Given the description of an element on the screen output the (x, y) to click on. 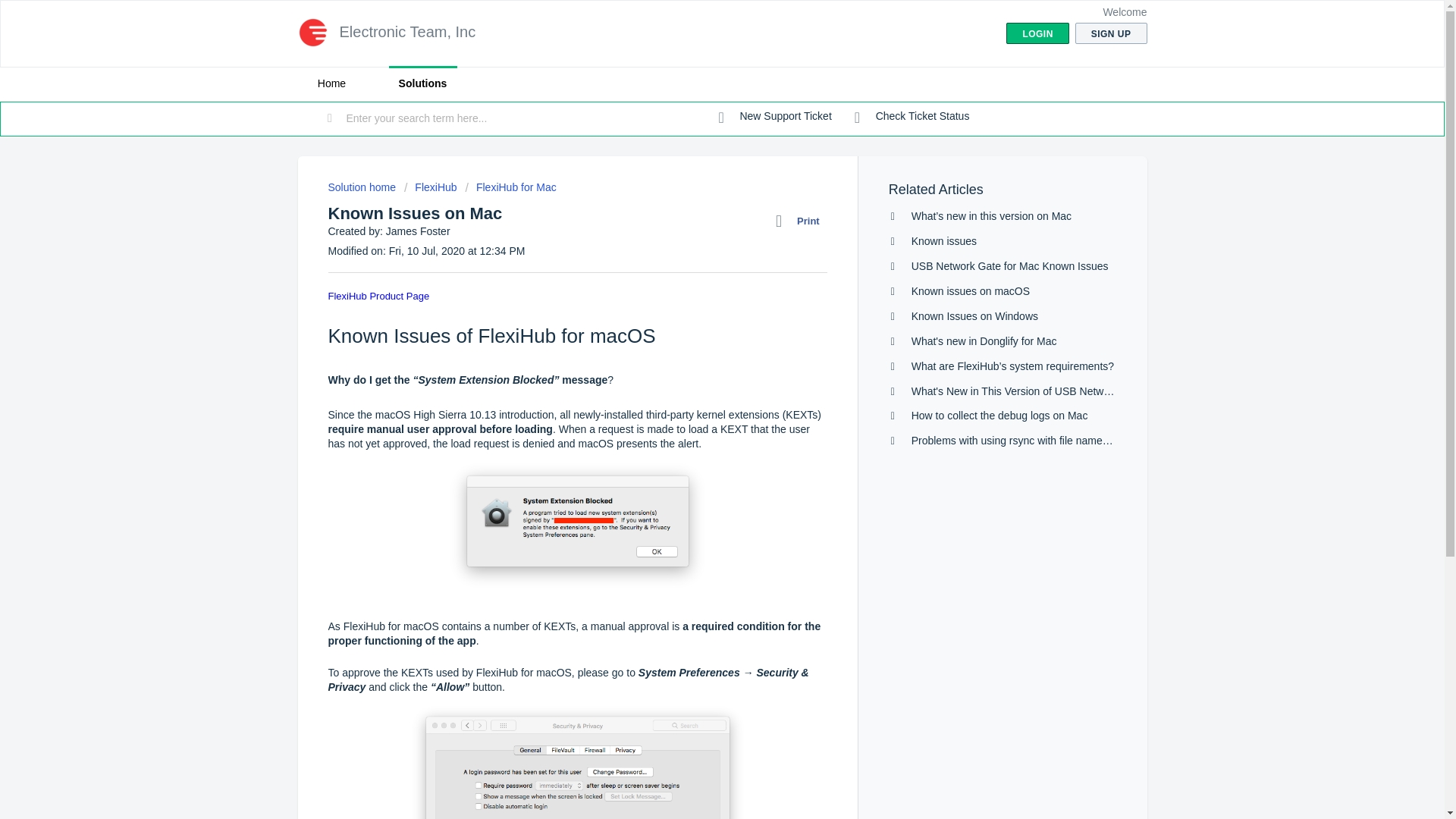
FlexiHub Product Page (378, 296)
New support ticket (775, 116)
Home (331, 83)
SIGN UP (1111, 33)
How to collect the debug logs on Mac (999, 415)
Known issues on macOS (970, 291)
FlexiHub (430, 186)
What's new in Donglify for Mac (984, 340)
LOGIN (1037, 33)
Solutions (422, 83)
FlexiHub for Mac (510, 186)
Solution home (362, 186)
Print this Article (801, 220)
What's New in This Version of USB Network Gate for Mac (1046, 390)
Known Issues on Windows (974, 316)
